Given the description of an element on the screen output the (x, y) to click on. 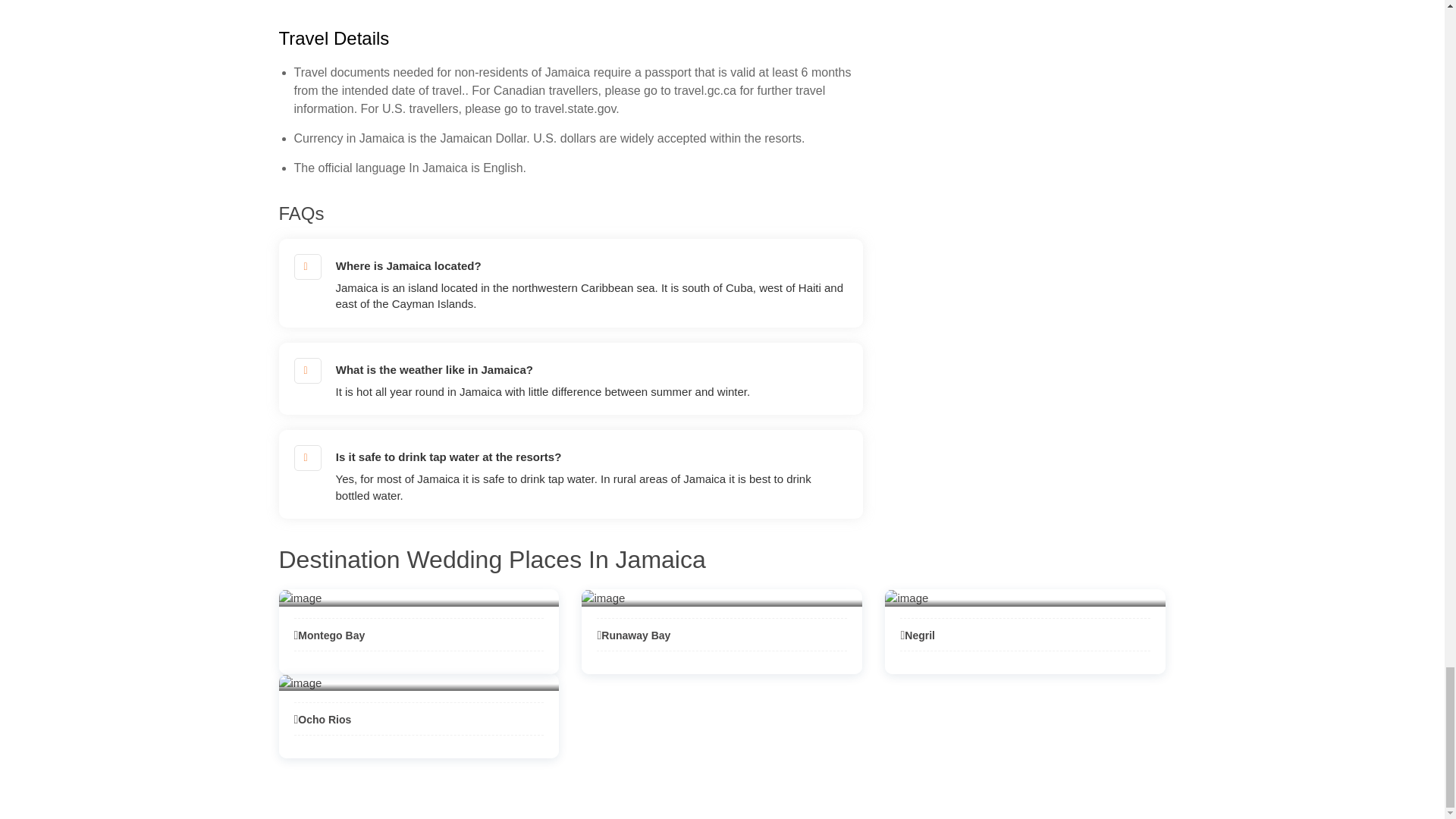
Runaway Bay (632, 635)
Montego Bay (329, 635)
Ocho Rios (323, 719)
Negril (916, 635)
